Given the description of an element on the screen output the (x, y) to click on. 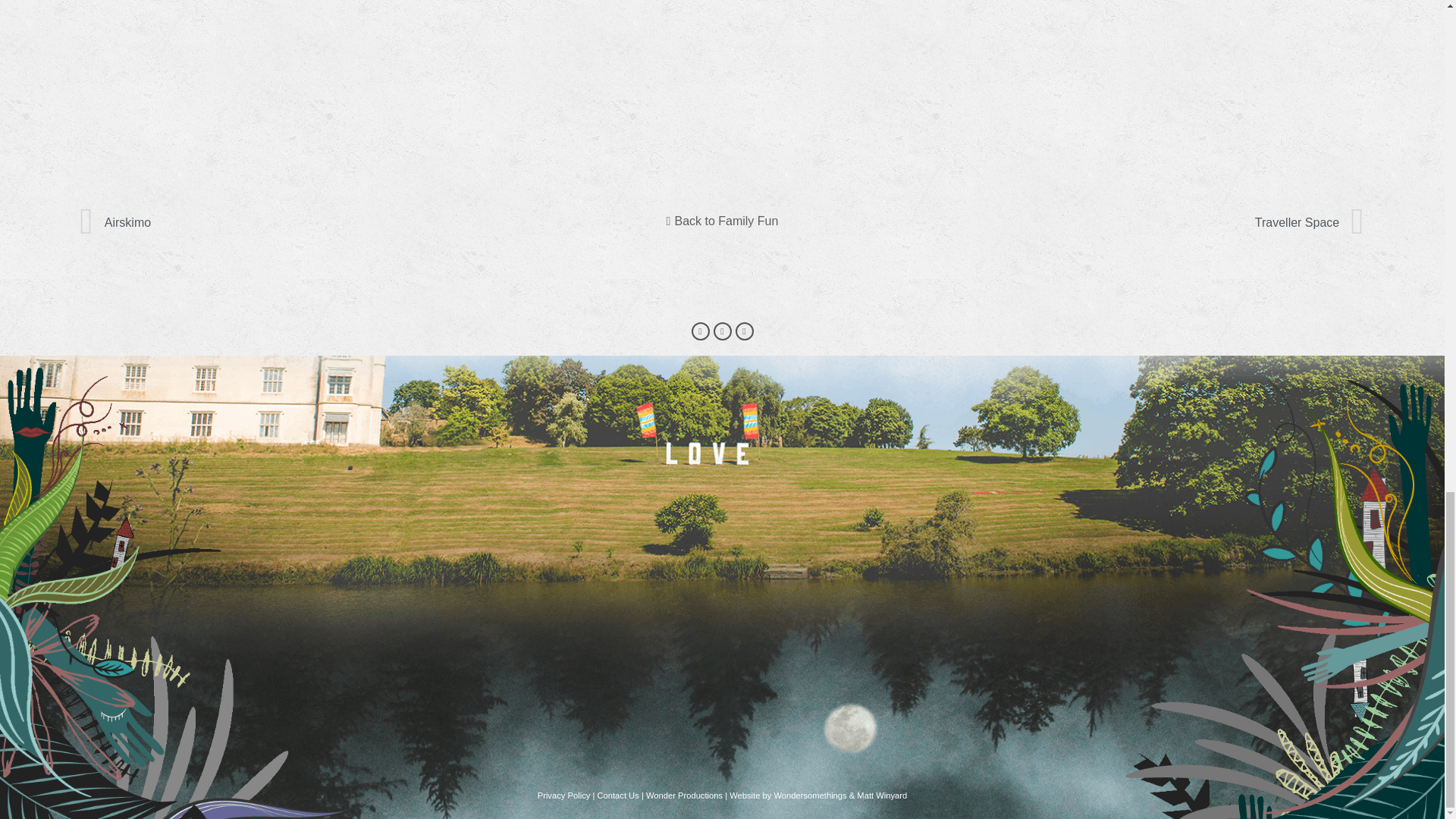
Back to Family Fun (401, 222)
